Given the description of an element on the screen output the (x, y) to click on. 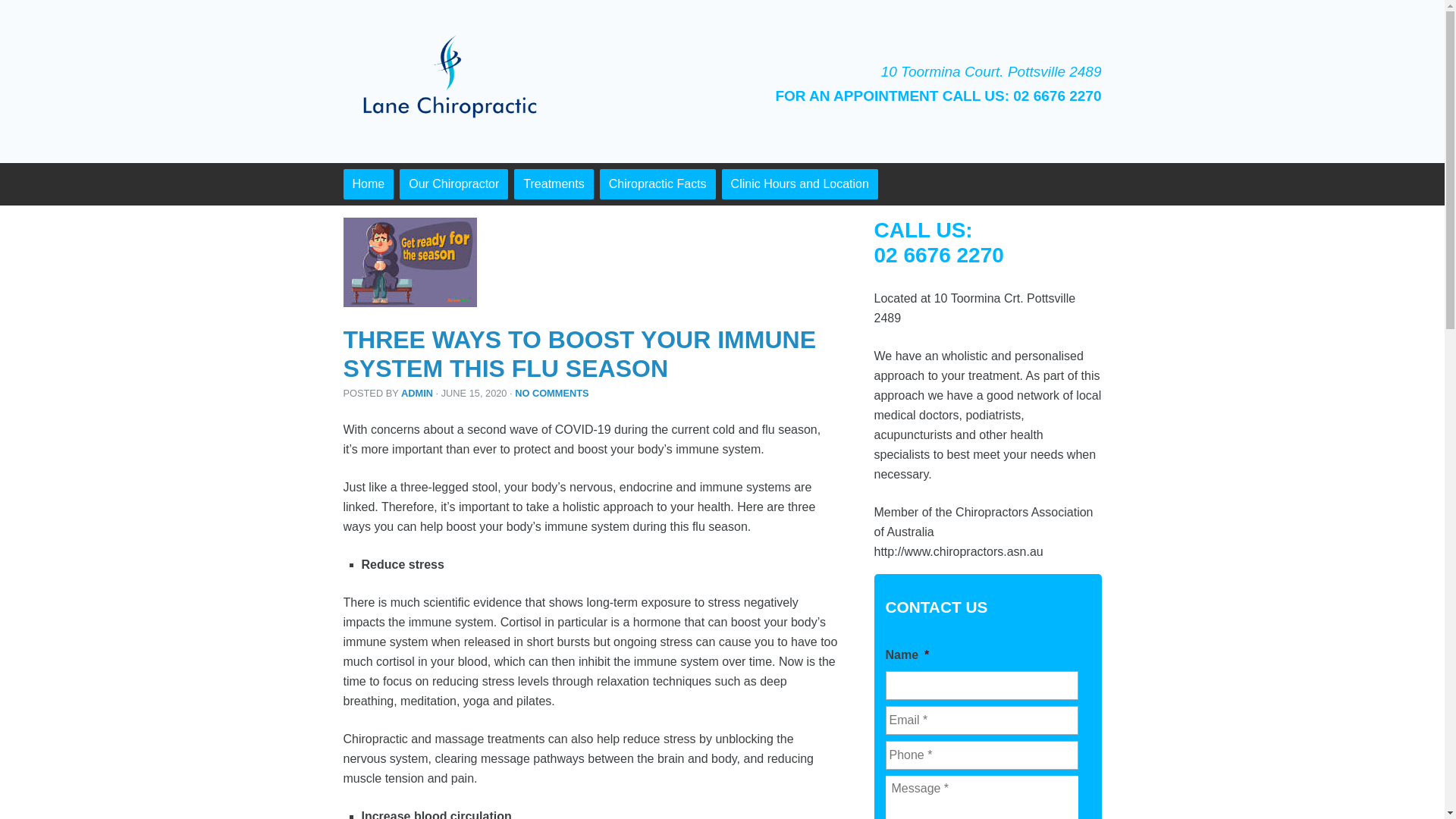
Our Chiropractor Element type: text (453, 184)
NO COMMENTS Element type: text (551, 392)
Treatments Element type: text (553, 184)
Chiropractic Facts Element type: text (657, 184)
THREE WAYS TO BOOST YOUR IMMUNE SYSTEM THIS FLU SEASON Element type: text (578, 354)
Clinic Hours and Location Element type: text (799, 184)
ADMIN Element type: text (417, 392)
Home Element type: text (367, 184)
